Given the description of an element on the screen output the (x, y) to click on. 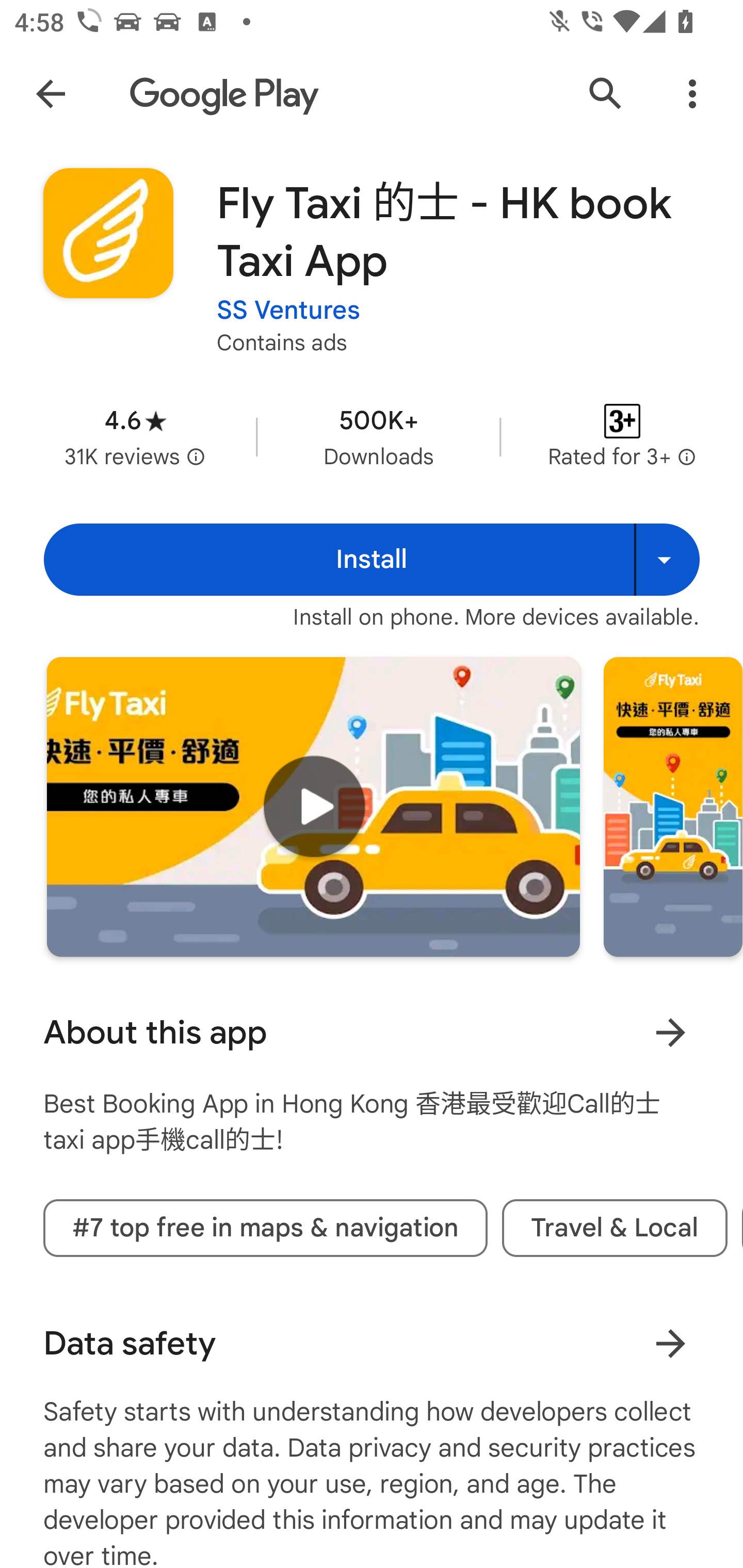
Navigate up (50, 93)
Search Google Play (605, 93)
More Options (692, 93)
SS Ventures (288, 310)
Average rating 4.6 stars in 31 thousand reviews (135, 436)
Content rating Rated for 3+ (622, 436)
Install Install Install on more devices (371, 559)
Install on more devices (667, 559)
Play trailer for "Fly Taxi 的士 - HK book Taxi App" (313, 806)
About this app Learn more About this app (371, 1032)
Learn more About this app (670, 1032)
#7 top free in maps & navigation tag (265, 1228)
Travel & Local tag (614, 1228)
Data safety Learn more about data safety (371, 1343)
Learn more about data safety (670, 1343)
